Given the description of an element on the screen output the (x, y) to click on. 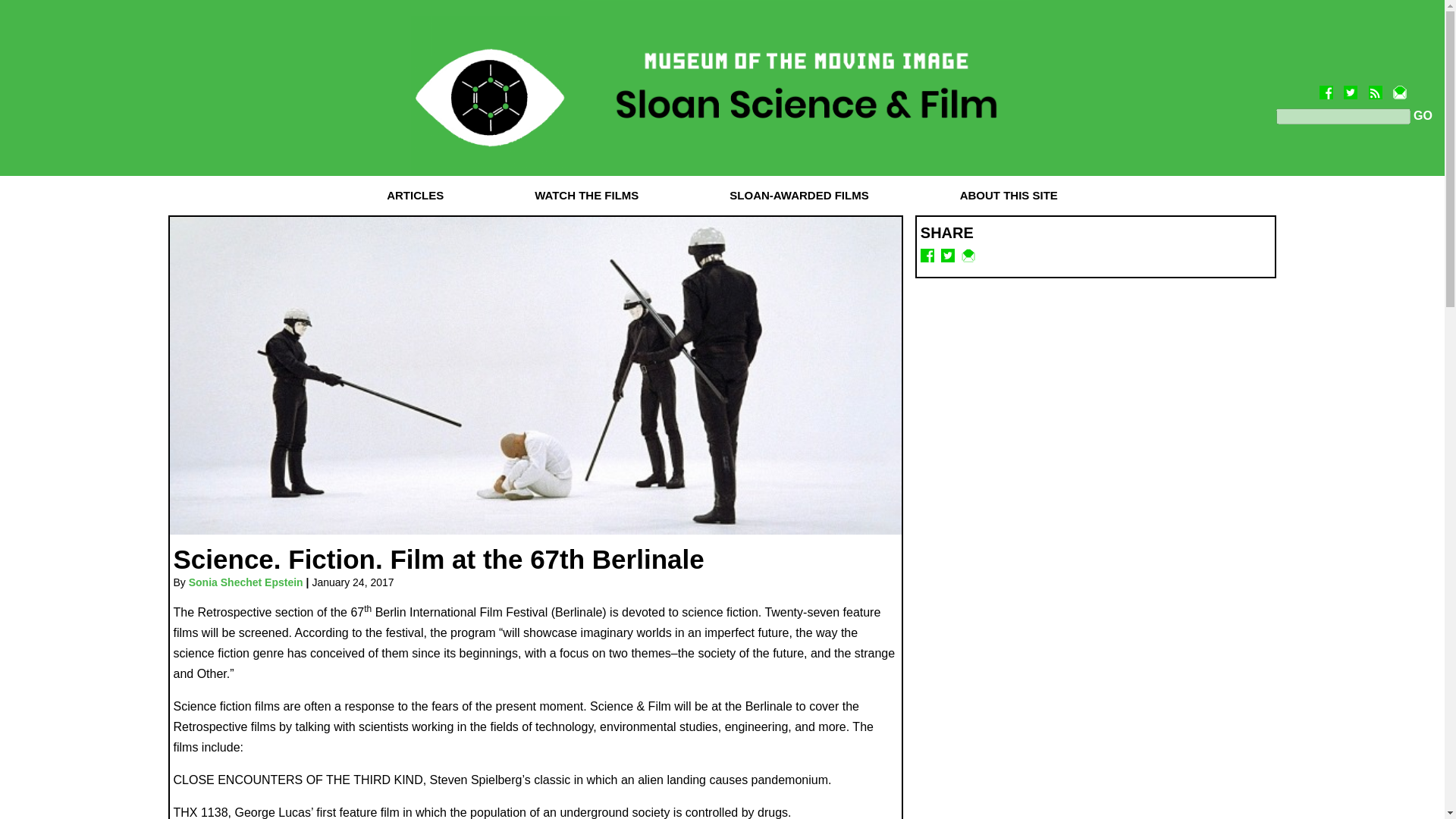
ARTICLES (414, 195)
Facebook (1326, 87)
RSS (1374, 87)
Sonia Shechet Epstein (245, 582)
E-newsletter (1399, 87)
SLOAN-AWARDED FILMS (799, 195)
ABOUT THIS SITE (1008, 195)
WATCH THE FILMS (586, 195)
GO (1421, 115)
